Given the description of an element on the screen output the (x, y) to click on. 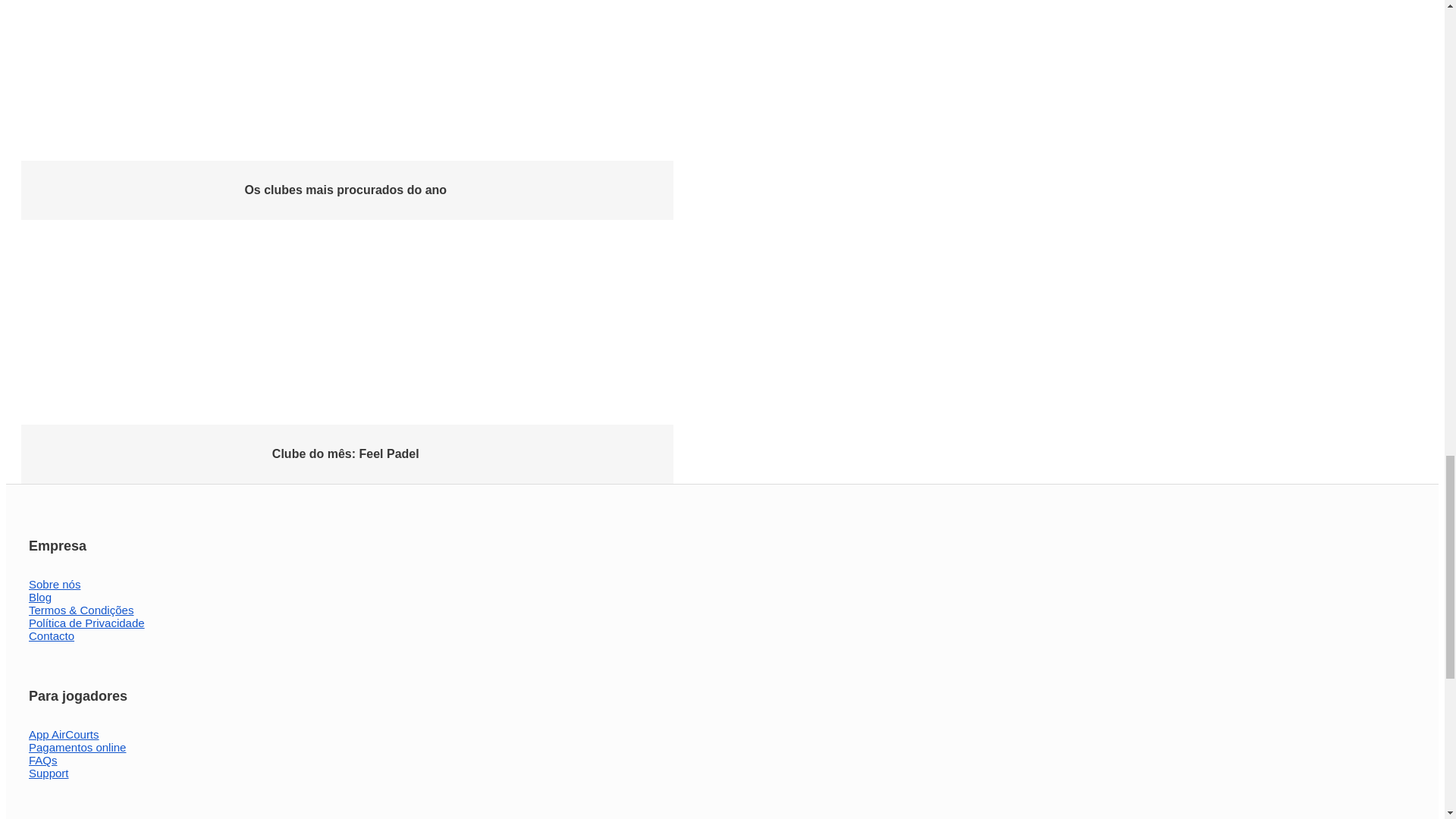
Blog (39, 598)
Os clubes mais procurados do ano  (346, 185)
Contacto (51, 637)
FAQs (43, 761)
Pagamentos online (77, 749)
App AirCourts (64, 736)
Support (48, 774)
